Given the description of an element on the screen output the (x, y) to click on. 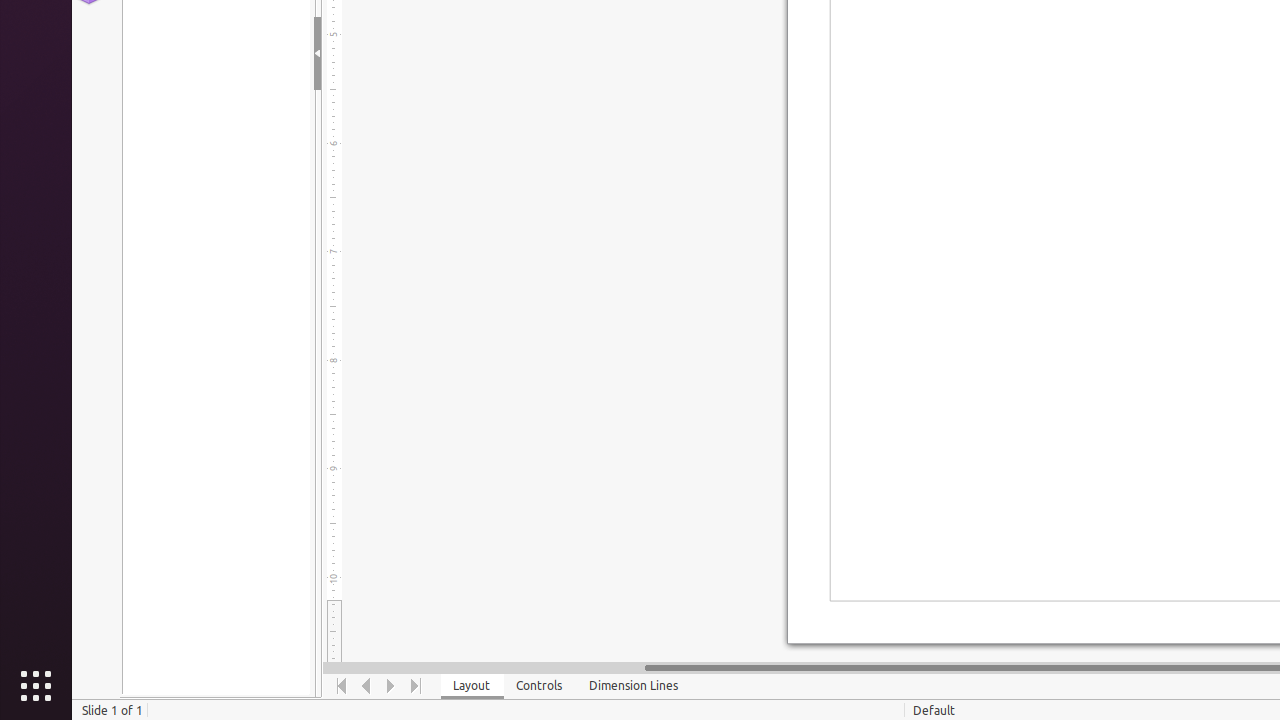
Move Right Element type: push-button (391, 686)
Move To Home Element type: push-button (341, 686)
Controls Element type: page-tab (540, 686)
Move To End Element type: push-button (416, 686)
Move Left Element type: push-button (366, 686)
